Given the description of an element on the screen output the (x, y) to click on. 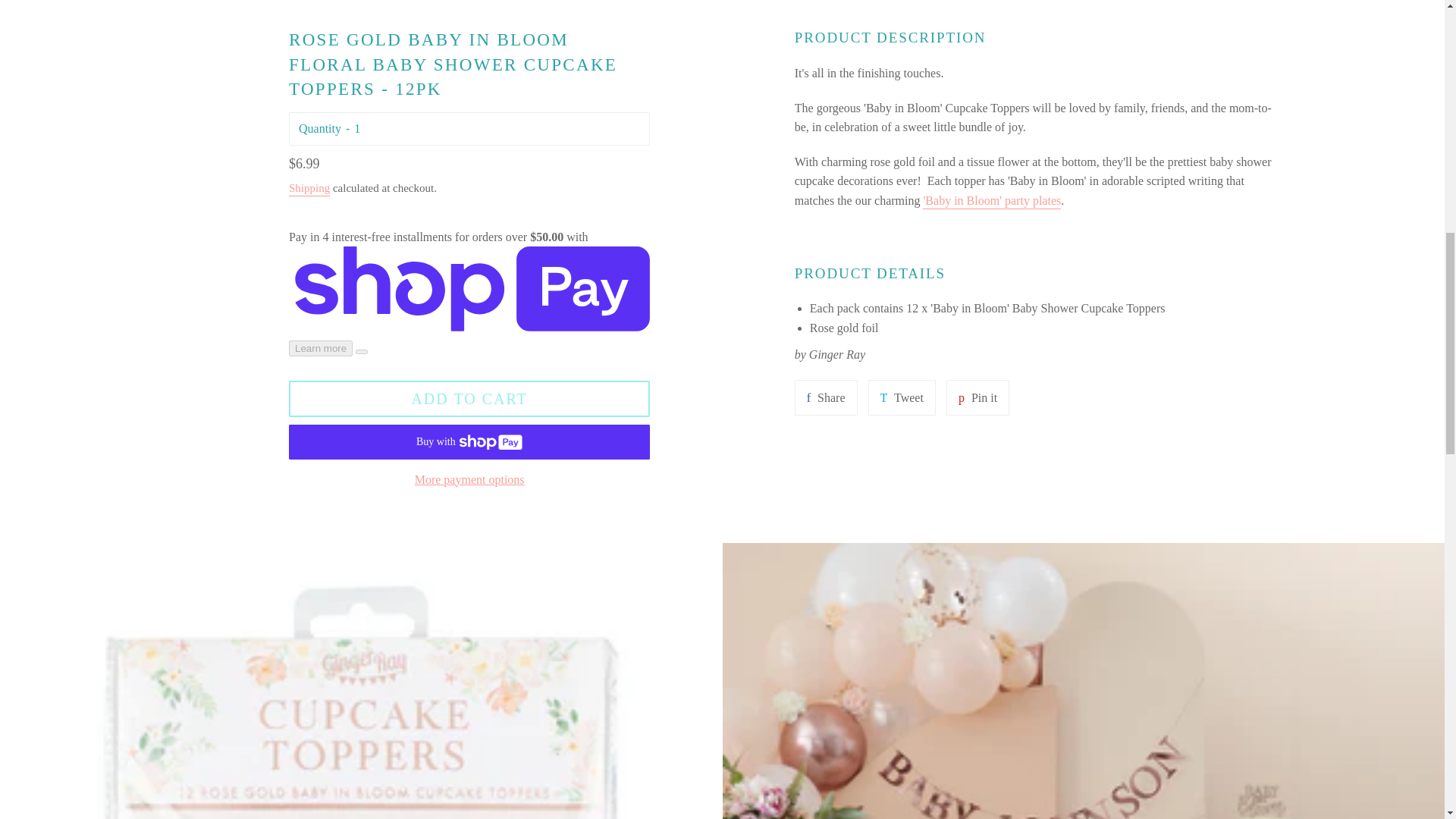
Pin on Pinterest (977, 398)
Share on Facebook (825, 398)
Baby in Bloom Baby Shower Paper Party Plates (992, 201)
1 (497, 128)
Tweet on Twitter (901, 398)
